Given the description of an element on the screen output the (x, y) to click on. 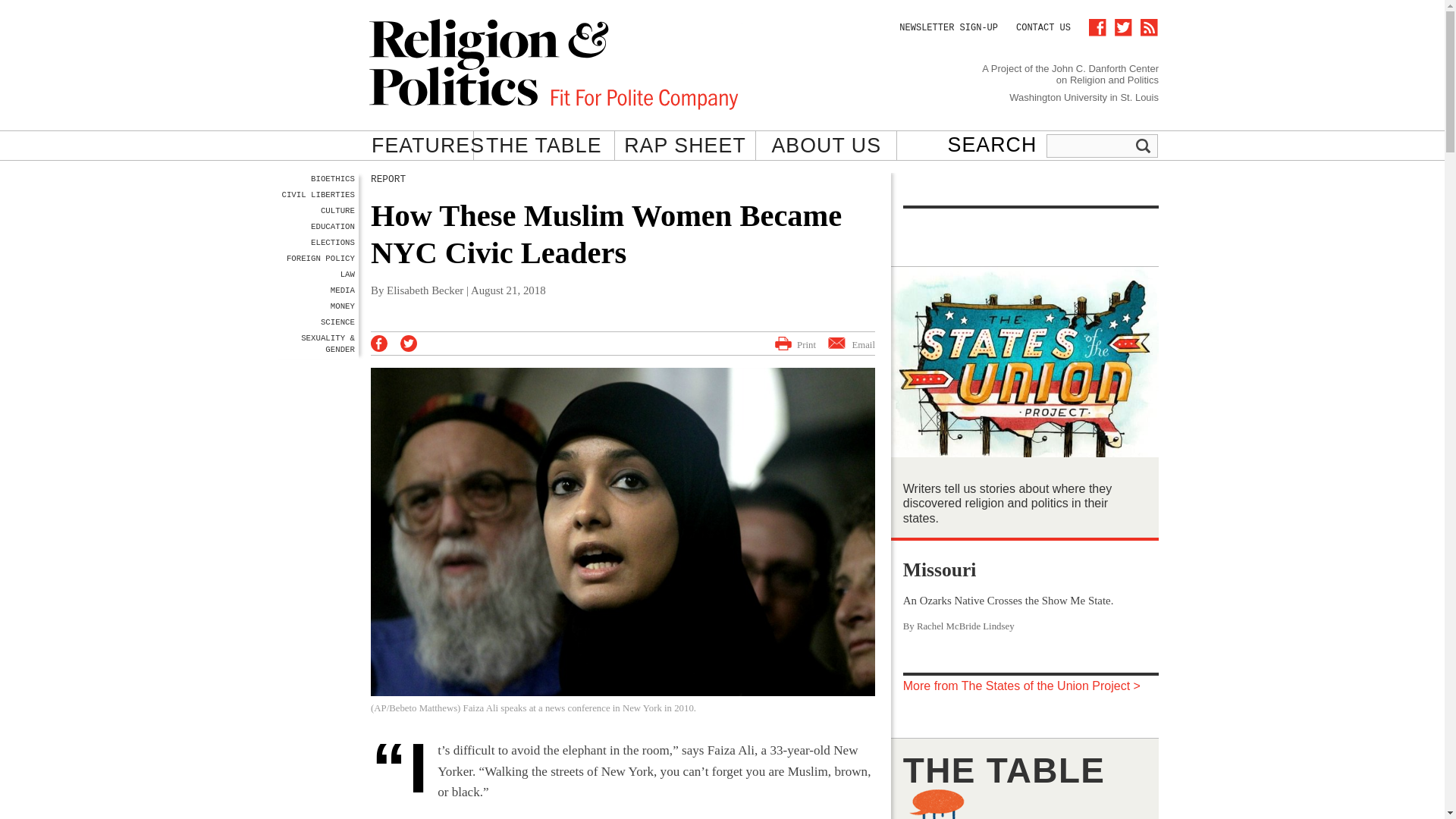
FEATURES (428, 145)
NEWSLETTER SIGN-UP (948, 27)
THE TABLE (543, 145)
CONTACT US (1043, 27)
Washington University in St. Louis (1083, 96)
RAP SHEET (684, 145)
Religion and Politics (554, 64)
search (1143, 145)
ABOUT US (826, 145)
